Given the description of an element on the screen output the (x, y) to click on. 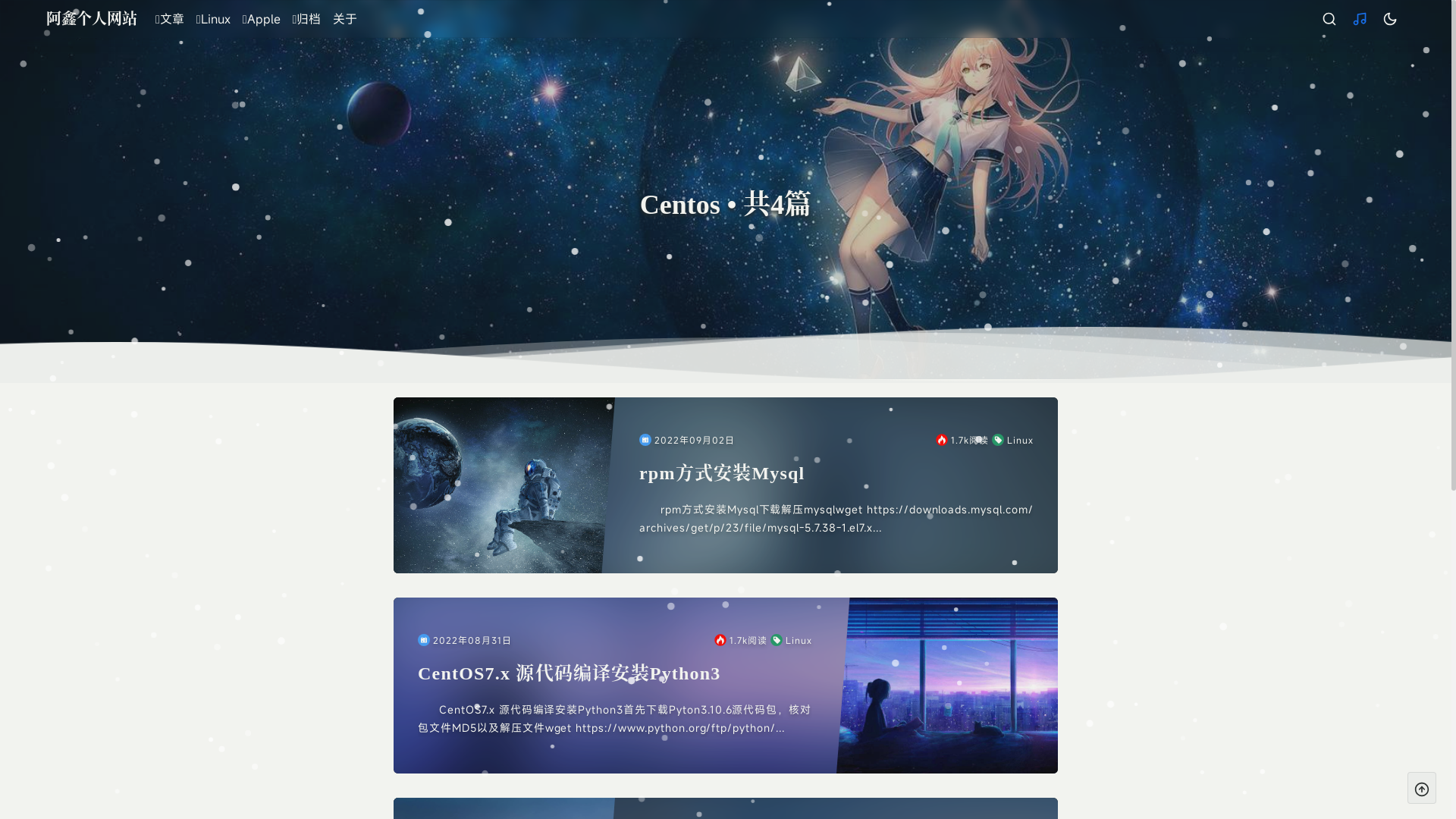
0 Element type: text (1389, 18)
Linux Element type: text (1012, 439)
Linux Element type: text (791, 639)
